Given the description of an element on the screen output the (x, y) to click on. 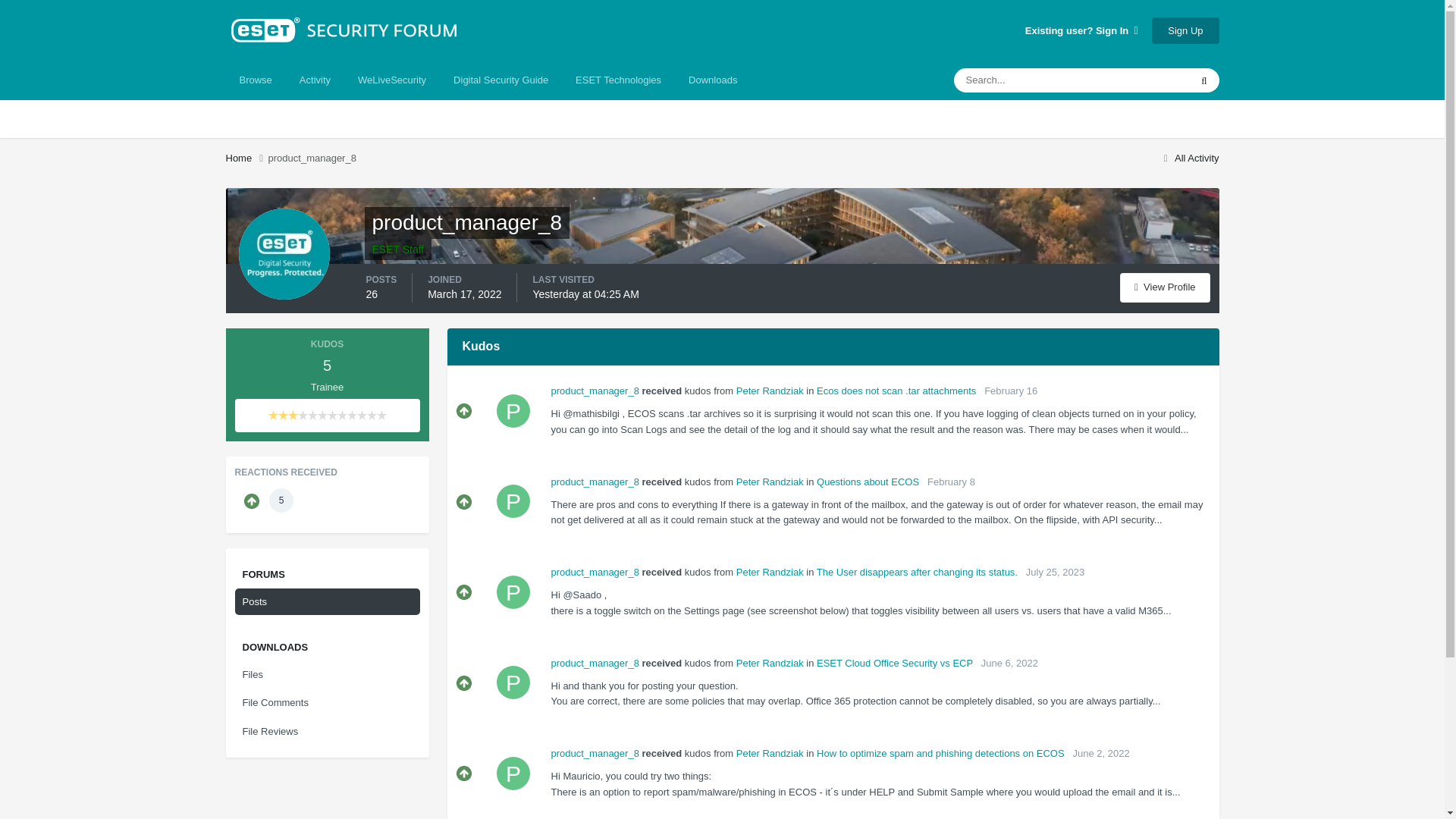
WeLiveSecurity (391, 79)
Browse (255, 79)
Downloads (713, 79)
Activity (314, 79)
ESET Technologies (618, 79)
 View Profile (1164, 287)
Go to Peter Randziak's profile (769, 390)
Home (246, 158)
Upvote (464, 501)
All Activity (1188, 157)
